Given the description of an element on the screen output the (x, y) to click on. 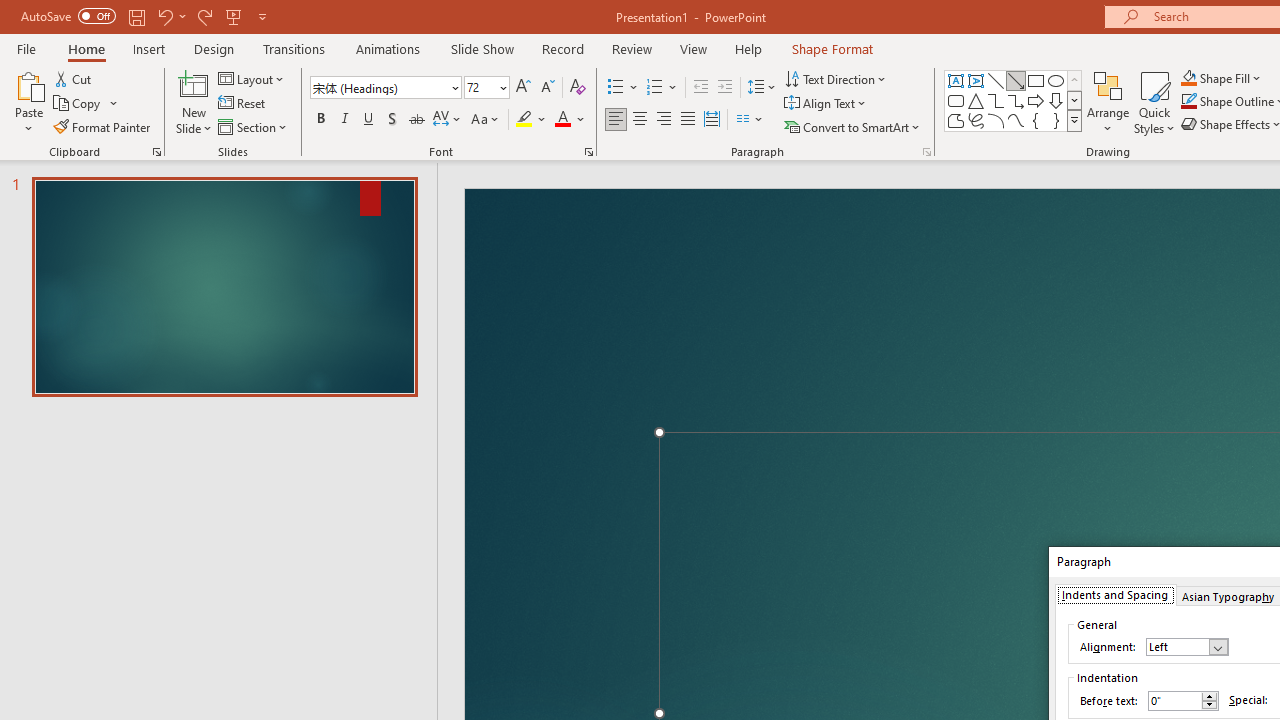
Alignment (1186, 646)
